Given the description of an element on the screen output the (x, y) to click on. 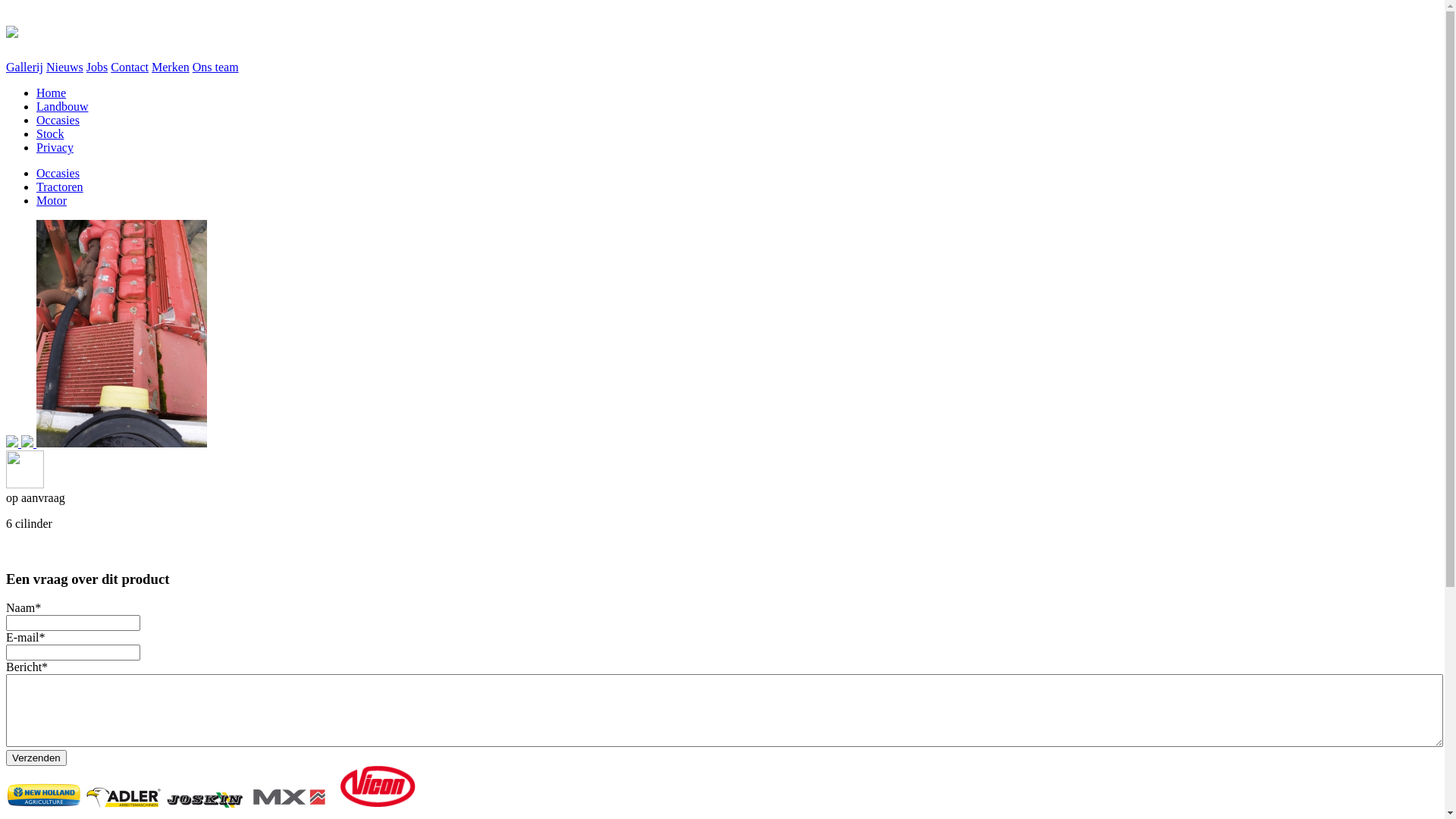
Landbouw Element type: text (61, 106)
Contact Element type: text (129, 66)
Home Element type: text (50, 92)
Ons team Element type: text (215, 66)
Verzenden Element type: text (36, 757)
Jobs Element type: text (96, 66)
Tractoren Element type: text (59, 186)
Stock Element type: text (49, 133)
Motor Element type: text (51, 200)
Occasies Element type: text (57, 172)
Merken Element type: text (170, 66)
Occasies Element type: text (57, 119)
Privacy Element type: text (54, 147)
Gallerij Element type: text (24, 66)
Nieuws Element type: text (64, 66)
